Given the description of an element on the screen output the (x, y) to click on. 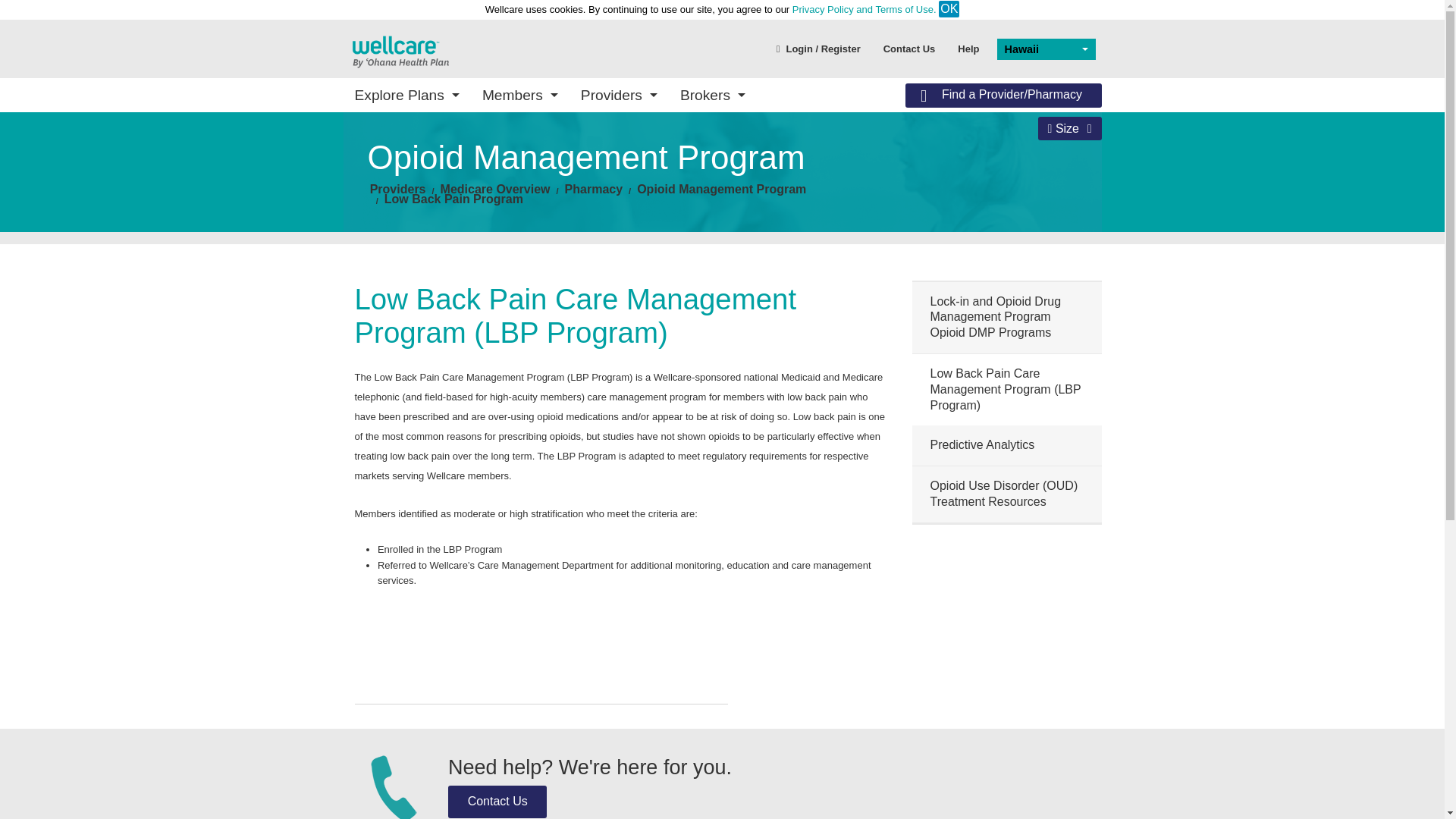
PDP Overview (633, 189)
Member Login (456, 233)
Already a Member? (810, 216)
D-SNP Plans (456, 238)
bread (495, 188)
Members (519, 94)
HMO Plans (456, 216)
Turning 65 (988, 194)
How to Enroll (810, 173)
help (968, 47)
bread (721, 188)
C-SNP Plans (456, 260)
Explore Plans (406, 94)
state (399, 50)
Resources and Education (633, 293)
